Given the description of an element on the screen output the (x, y) to click on. 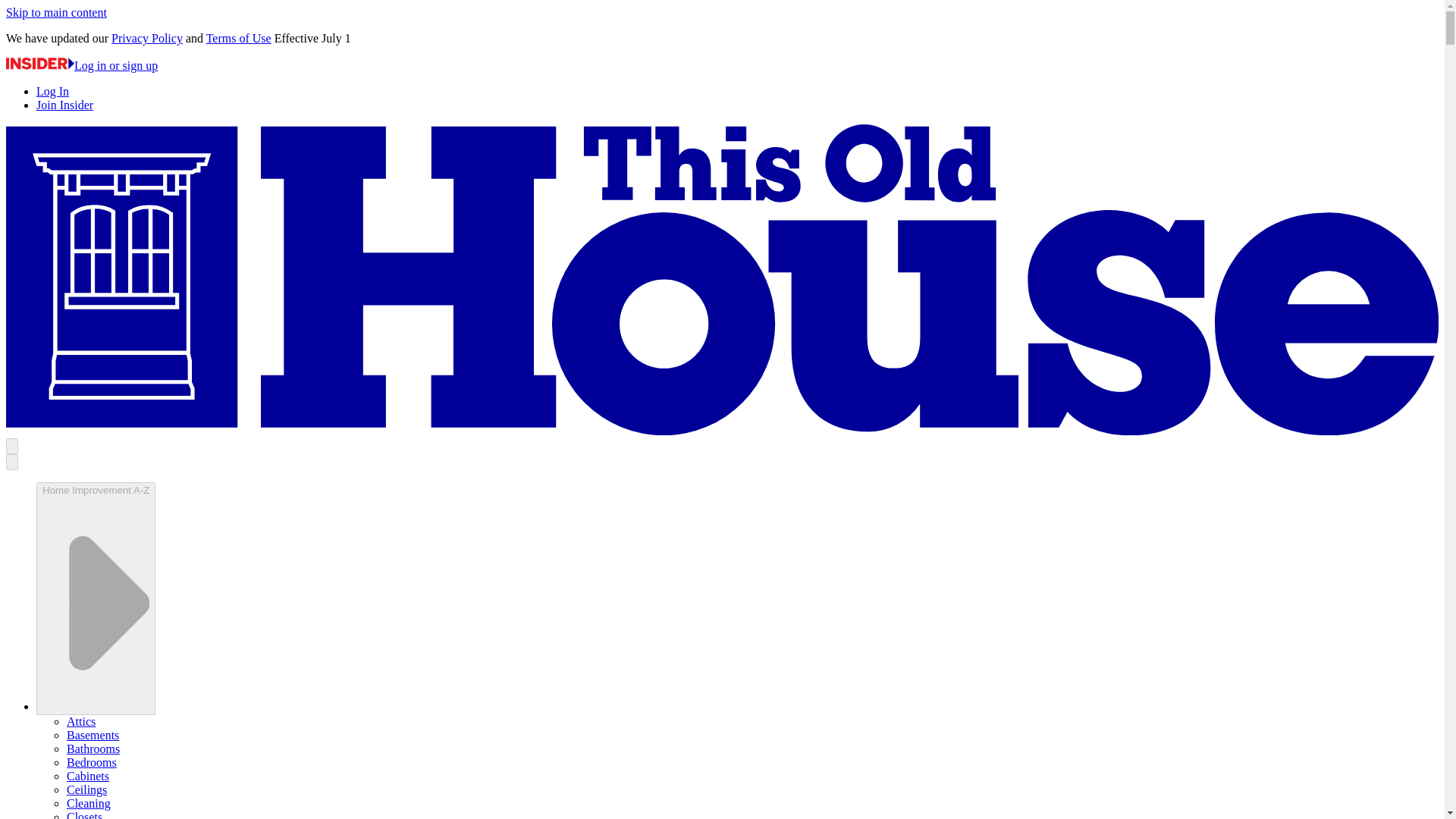
Log In (52, 91)
Bedrooms (91, 762)
Bathrooms (92, 748)
Ceilings (86, 789)
Basements (92, 735)
Skip to main content (55, 11)
Terms of Use (238, 38)
Cabinets (87, 775)
Log in or sign up (81, 65)
Join Insider (64, 104)
